Given the description of an element on the screen output the (x, y) to click on. 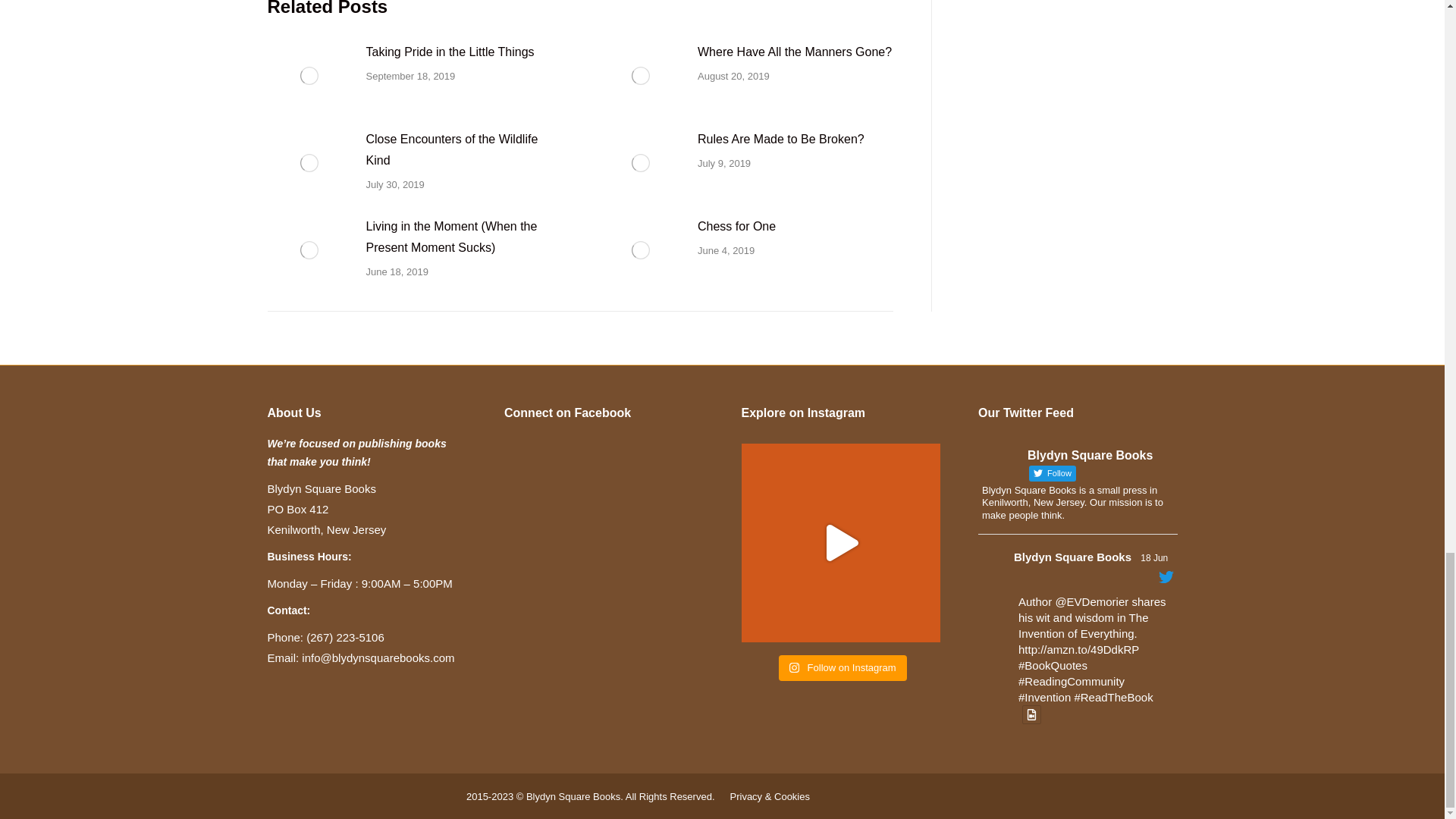
Likebox Iframe (603, 535)
